Given the description of an element on the screen output the (x, y) to click on. 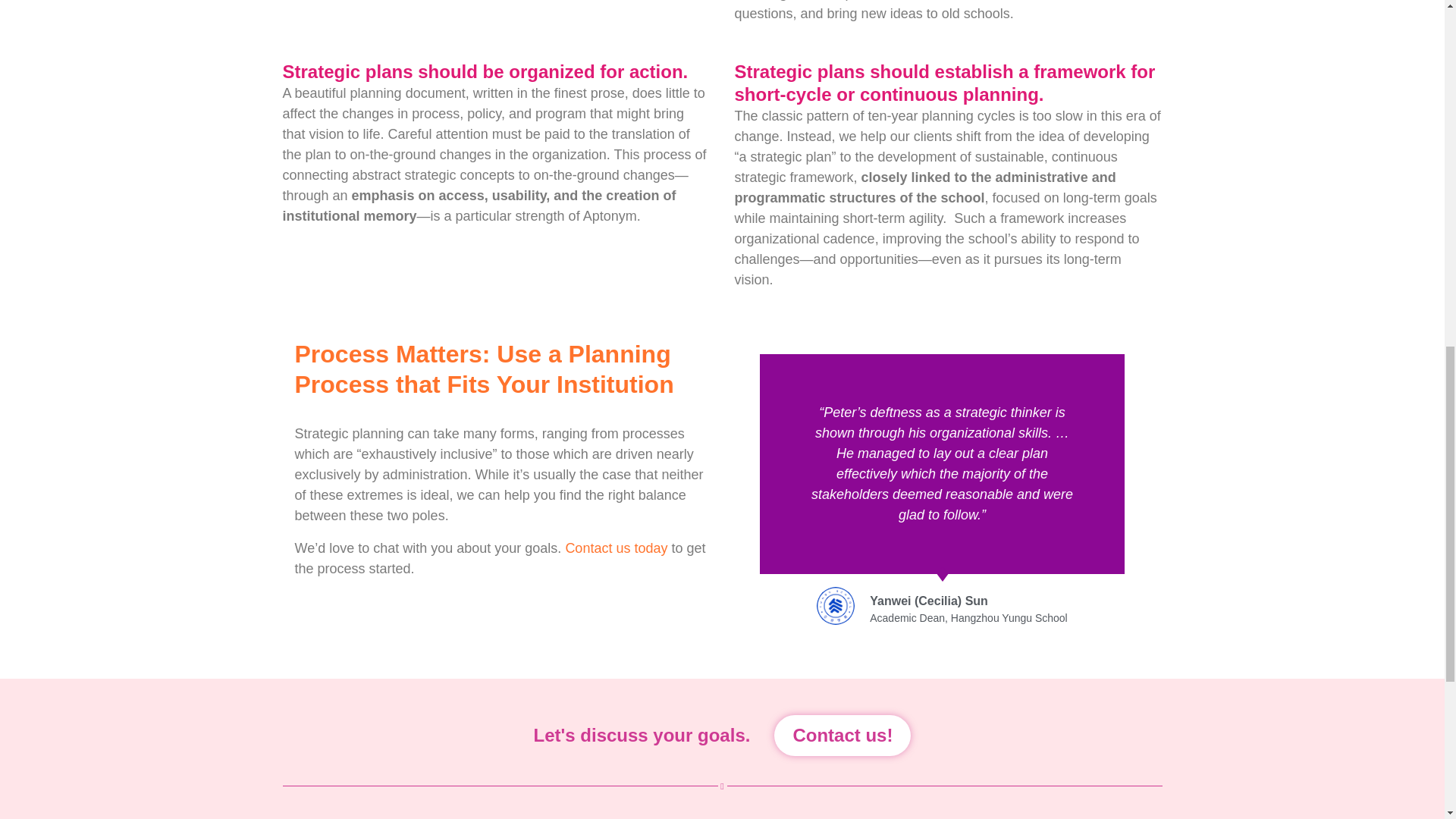
Contact us today (615, 548)
Contact us! (842, 734)
